Given the description of an element on the screen output the (x, y) to click on. 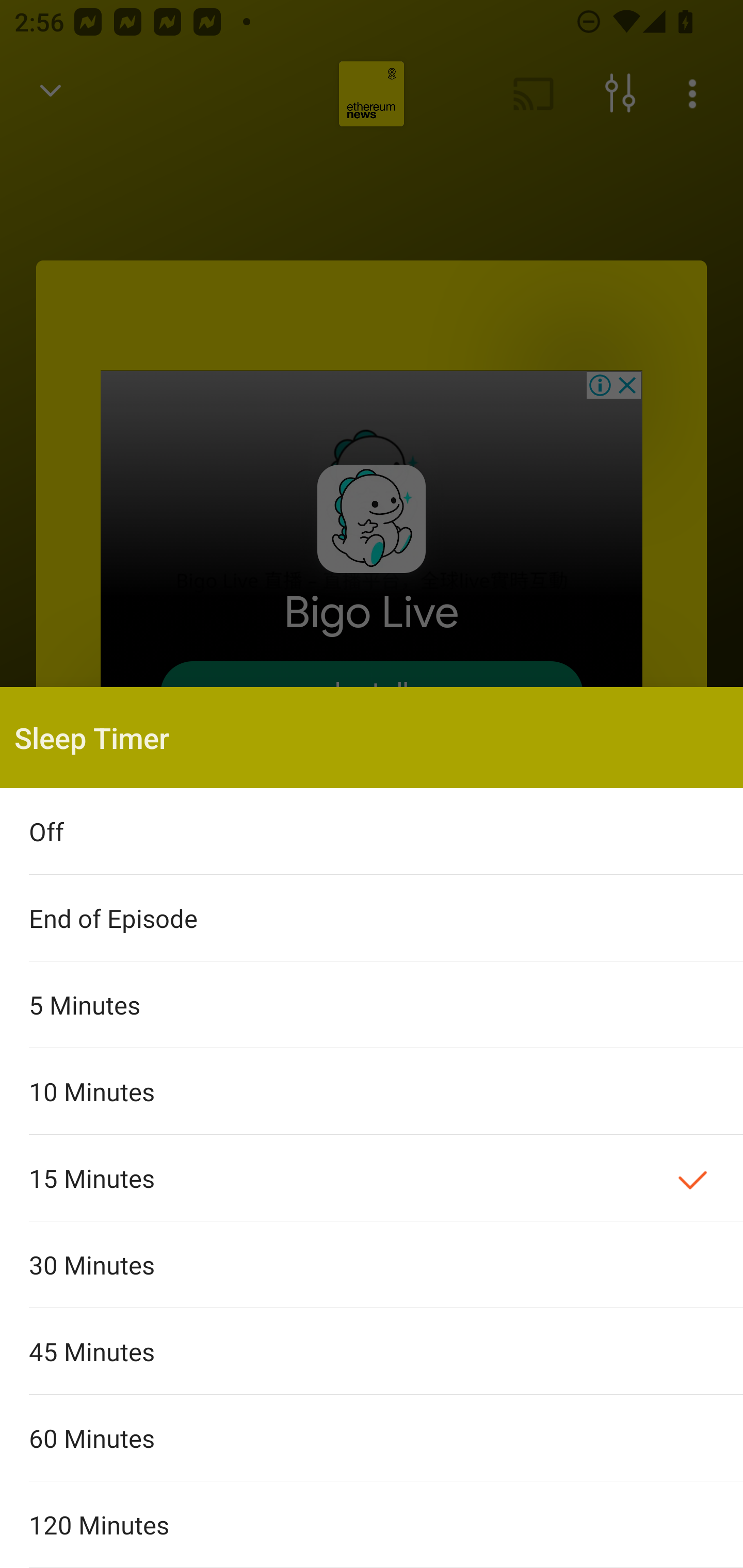
Off (371, 831)
End of Episode (371, 917)
5 Minutes (371, 1004)
10 Minutes (371, 1091)
15 Minutes (371, 1178)
30 Minutes (371, 1264)
45 Minutes (371, 1350)
60 Minutes (371, 1437)
120 Minutes (371, 1524)
